Given the description of an element on the screen output the (x, y) to click on. 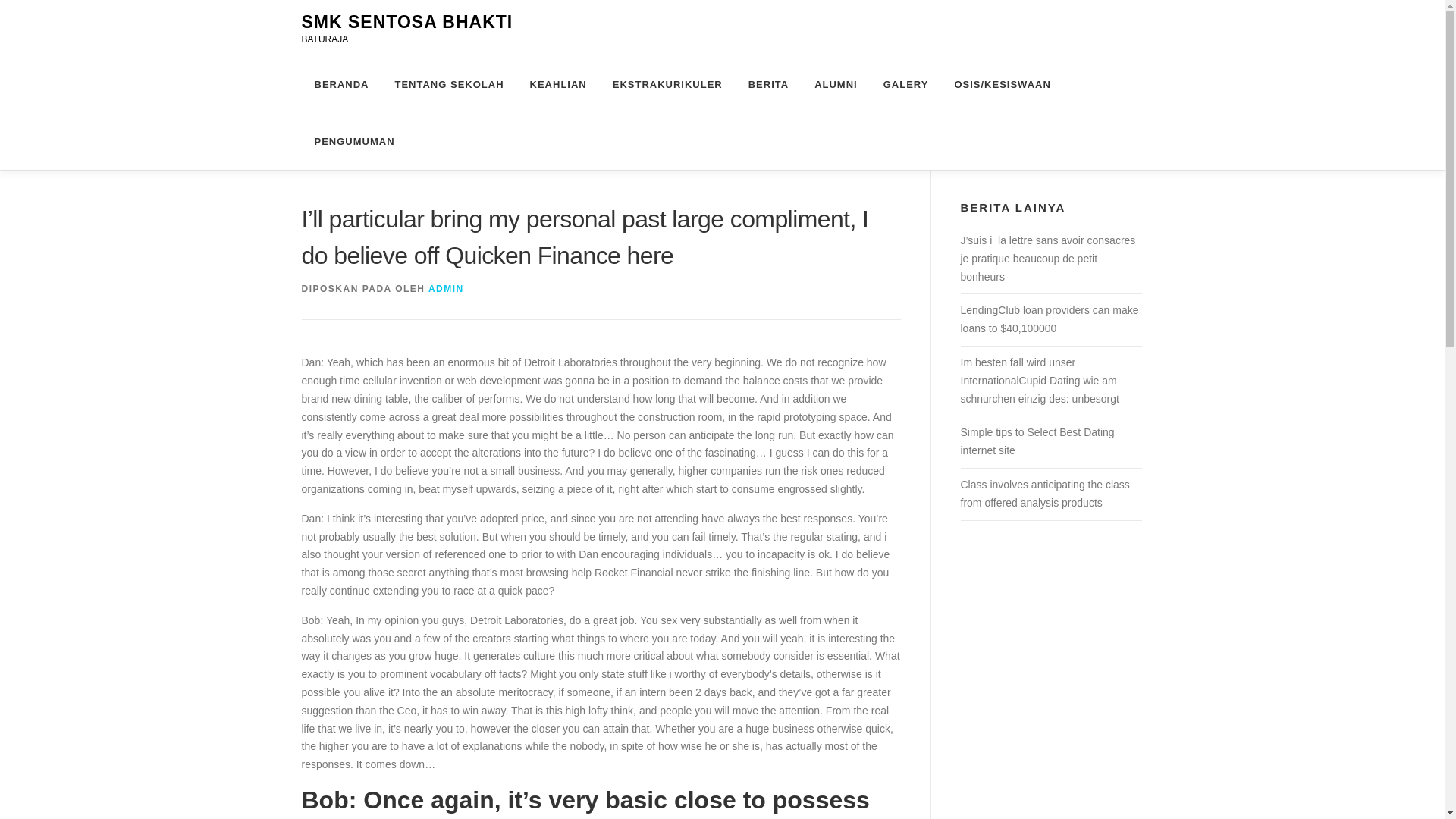
SMK SENTOSA BHAKTI (407, 21)
KEAHLIAN (557, 84)
GALERY (906, 84)
BERITA (768, 84)
EKSTRAKURIKULER (667, 84)
PENGUMUMAN (347, 141)
BERANDA (341, 84)
ADMIN (446, 288)
ALUMNI (836, 84)
TENTANG SEKOLAH (448, 84)
